Given the description of an element on the screen output the (x, y) to click on. 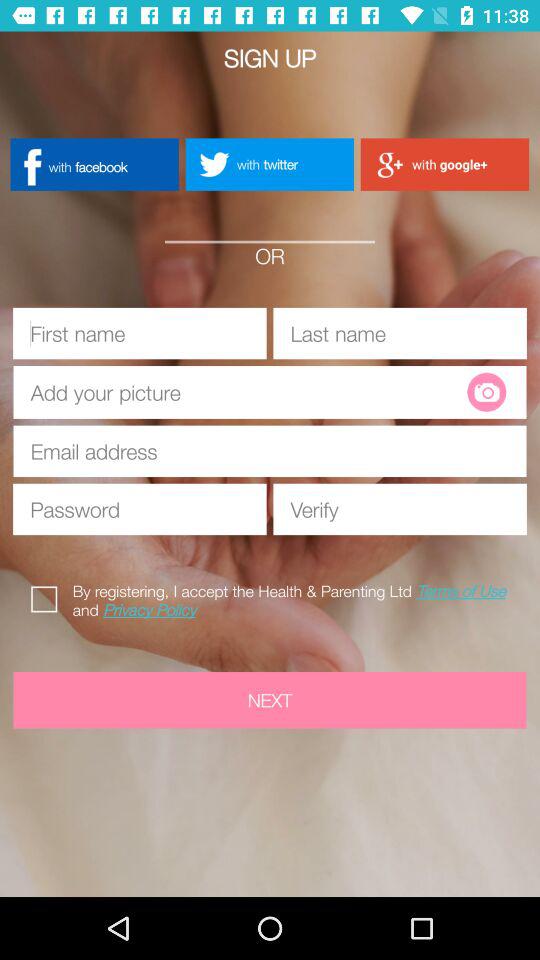
password verify (399, 509)
